Given the description of an element on the screen output the (x, y) to click on. 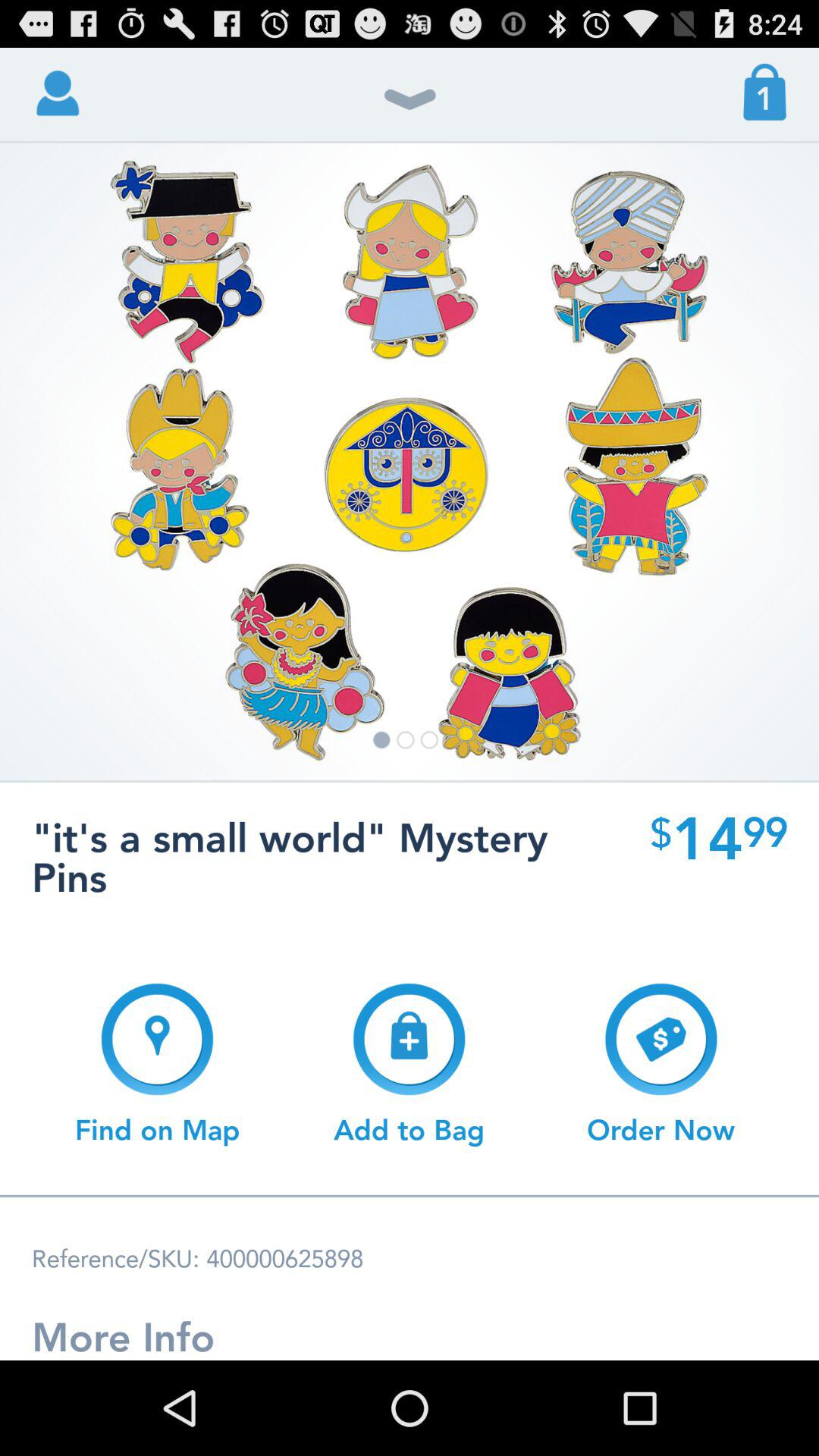
launch button at the bottom left corner (157, 1064)
